Given the description of an element on the screen output the (x, y) to click on. 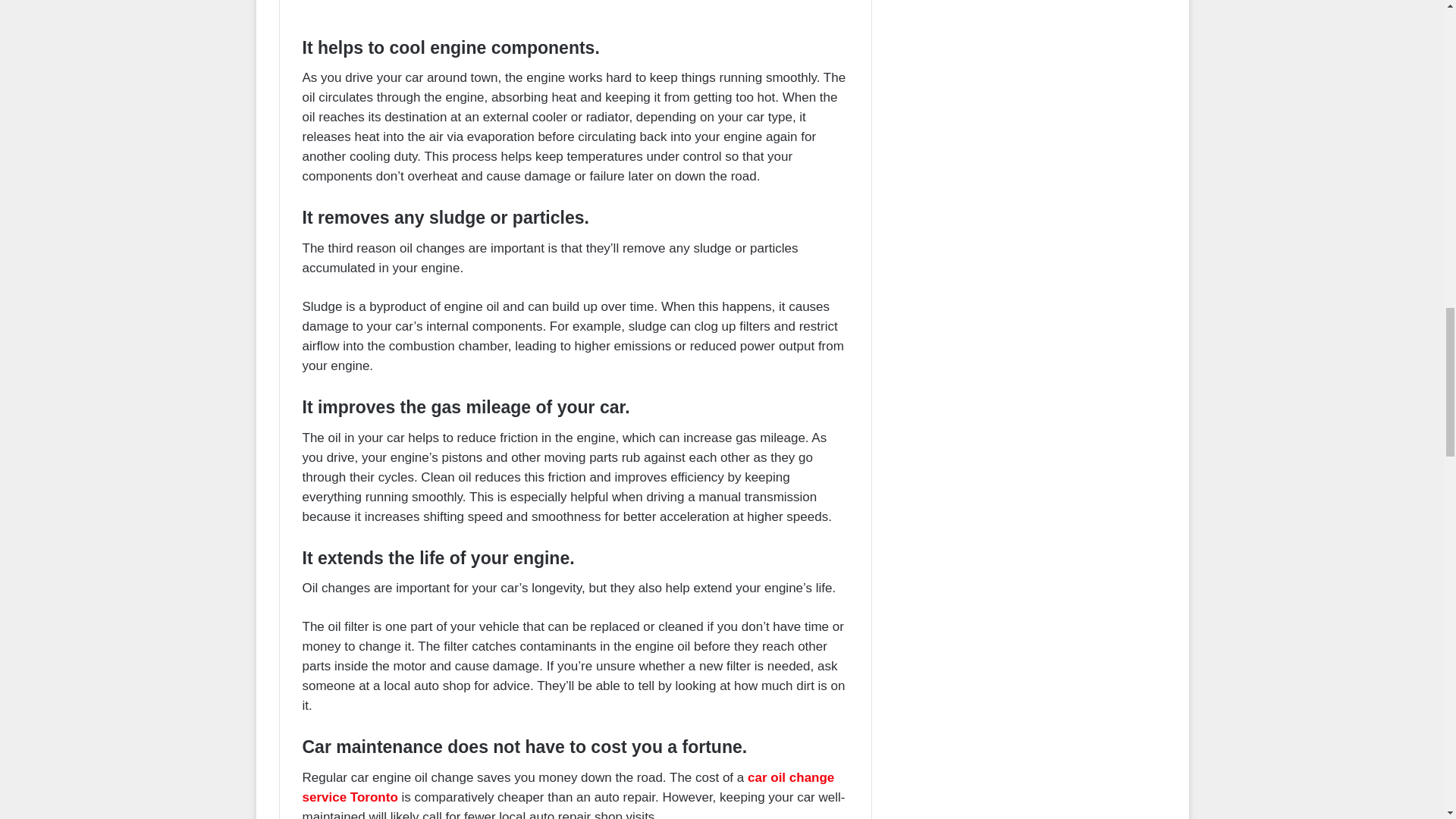
car oil change service Toronto (567, 787)
